Given the description of an element on the screen output the (x, y) to click on. 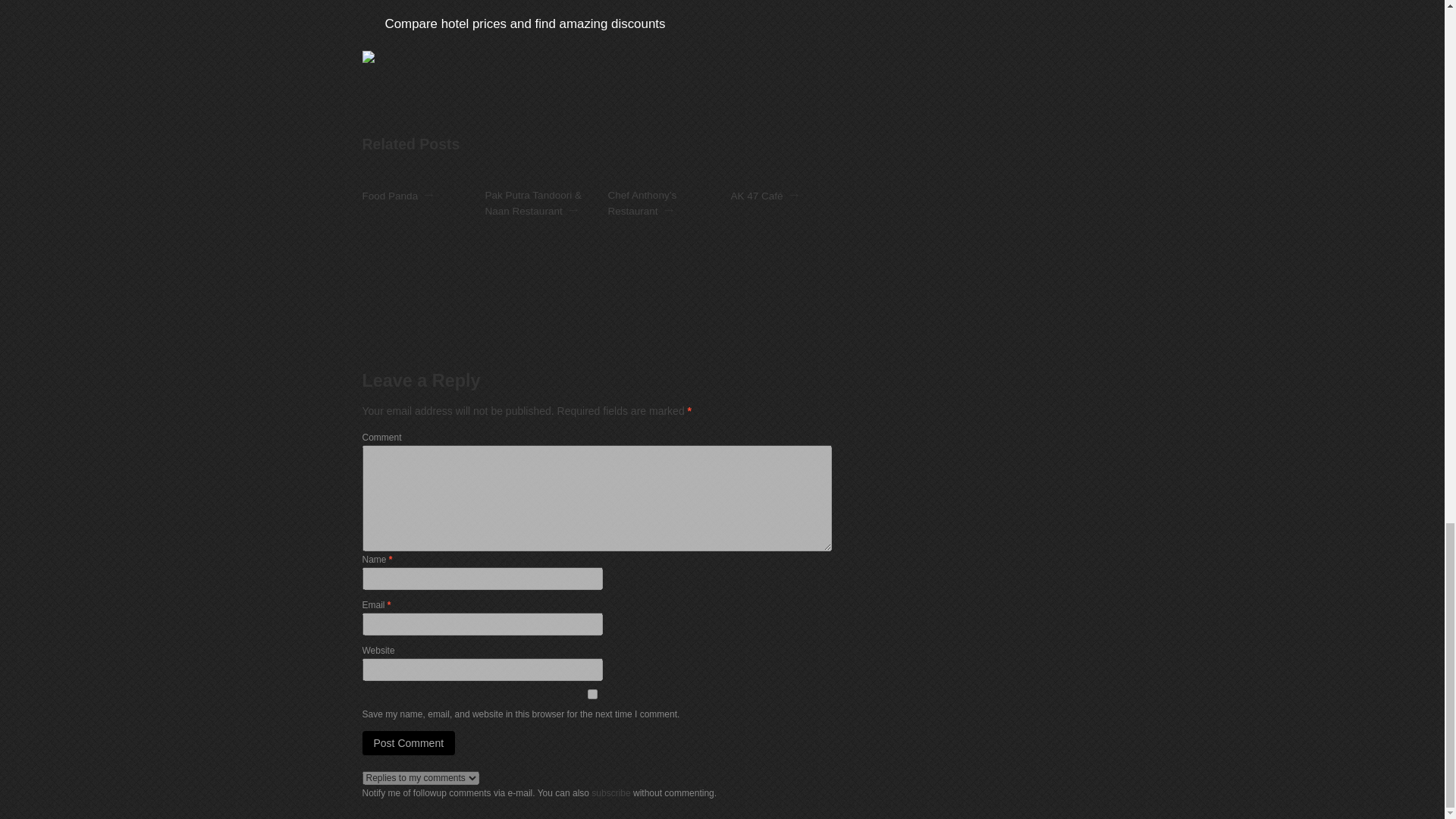
Post Comment (408, 743)
yes (593, 694)
Food Panda (390, 195)
